Given the description of an element on the screen output the (x, y) to click on. 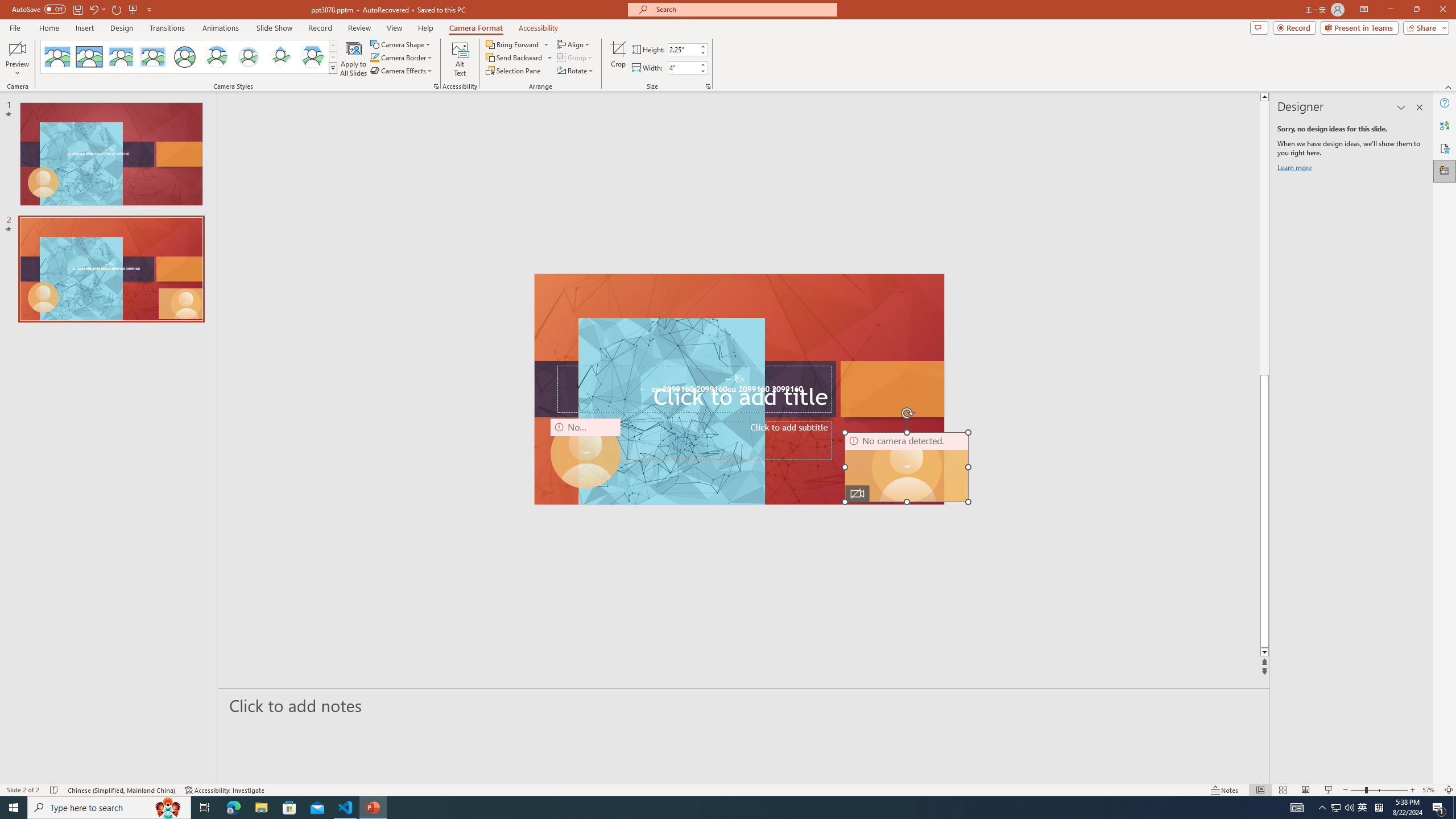
Center Shadow Diamond (280, 56)
Cameo Height (682, 49)
Align (574, 44)
Camera Border Green, Accent 1 (374, 56)
Send Backward (514, 56)
AutomationID: CameoStylesGallery (189, 56)
